Given the description of an element on the screen output the (x, y) to click on. 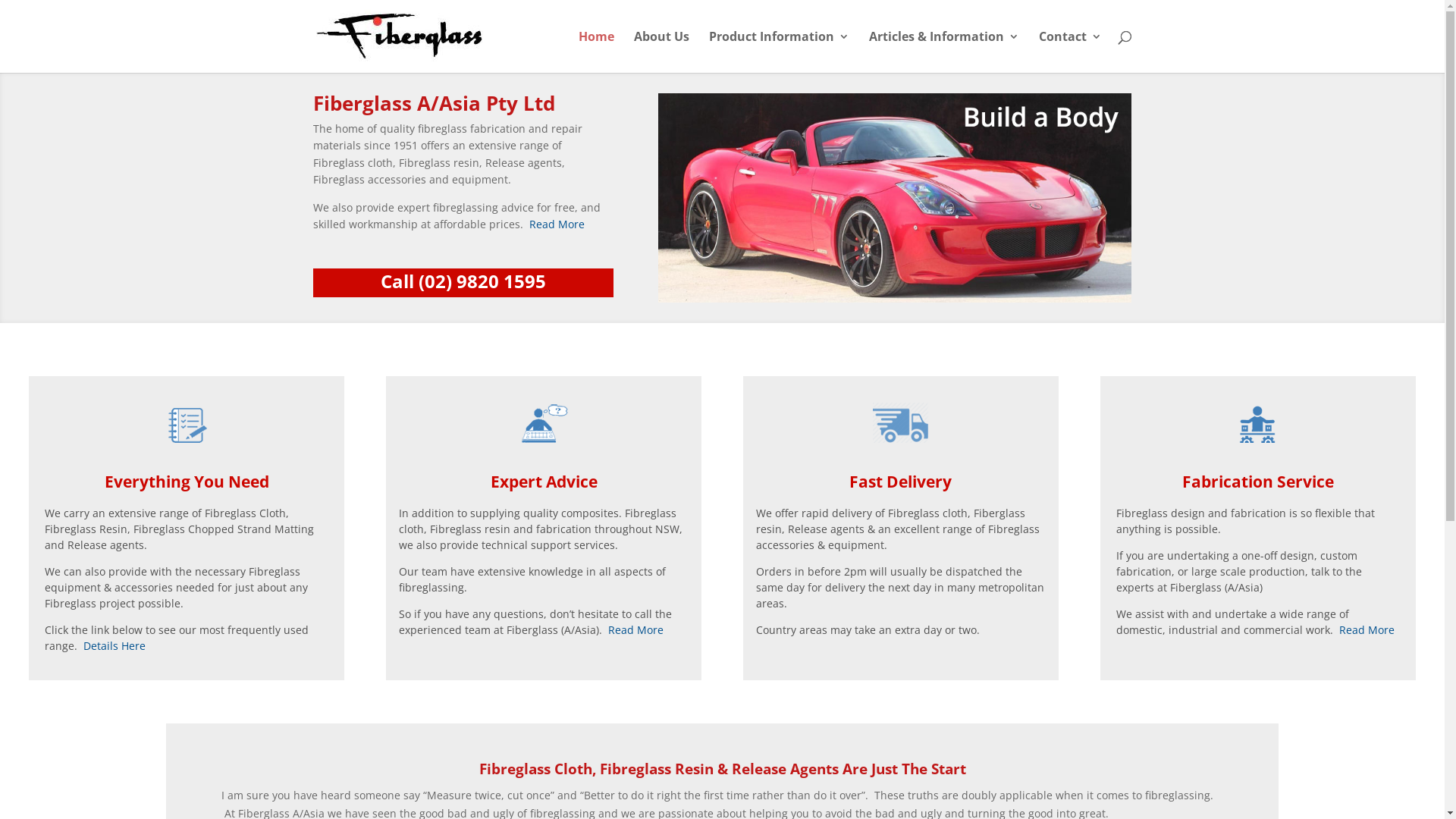
Contact Element type: text (1069, 51)
Home Element type: text (595, 51)
Product Information Element type: text (778, 51)
Read More Element type: text (1366, 629)
About Us Element type: text (661, 51)
 Read More Element type: text (555, 223)
Details Here Element type: text (114, 645)
Articles & Information Element type: text (944, 51)
Read More Element type: text (635, 629)
